Given the description of an element on the screen output the (x, y) to click on. 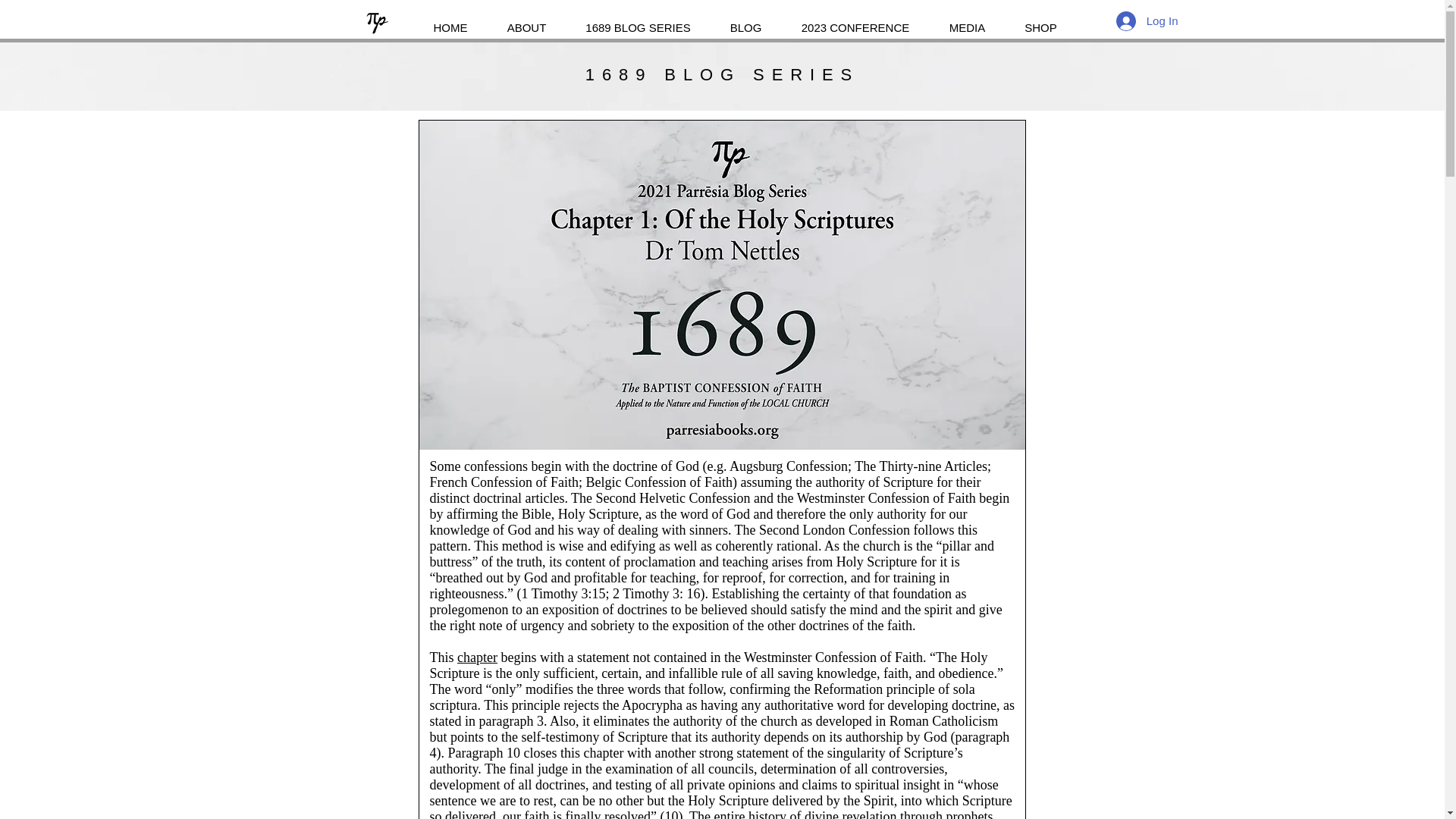
Log In (1147, 20)
chapter (477, 657)
SHOP (1041, 20)
1689 BLOG SERIES (722, 74)
HOME (450, 20)
ABOUT (526, 20)
BLOG (745, 20)
MEDIA (968, 20)
1689 BLOG SERIES (638, 20)
2023 CONFERENCE (854, 20)
